Given the description of an element on the screen output the (x, y) to click on. 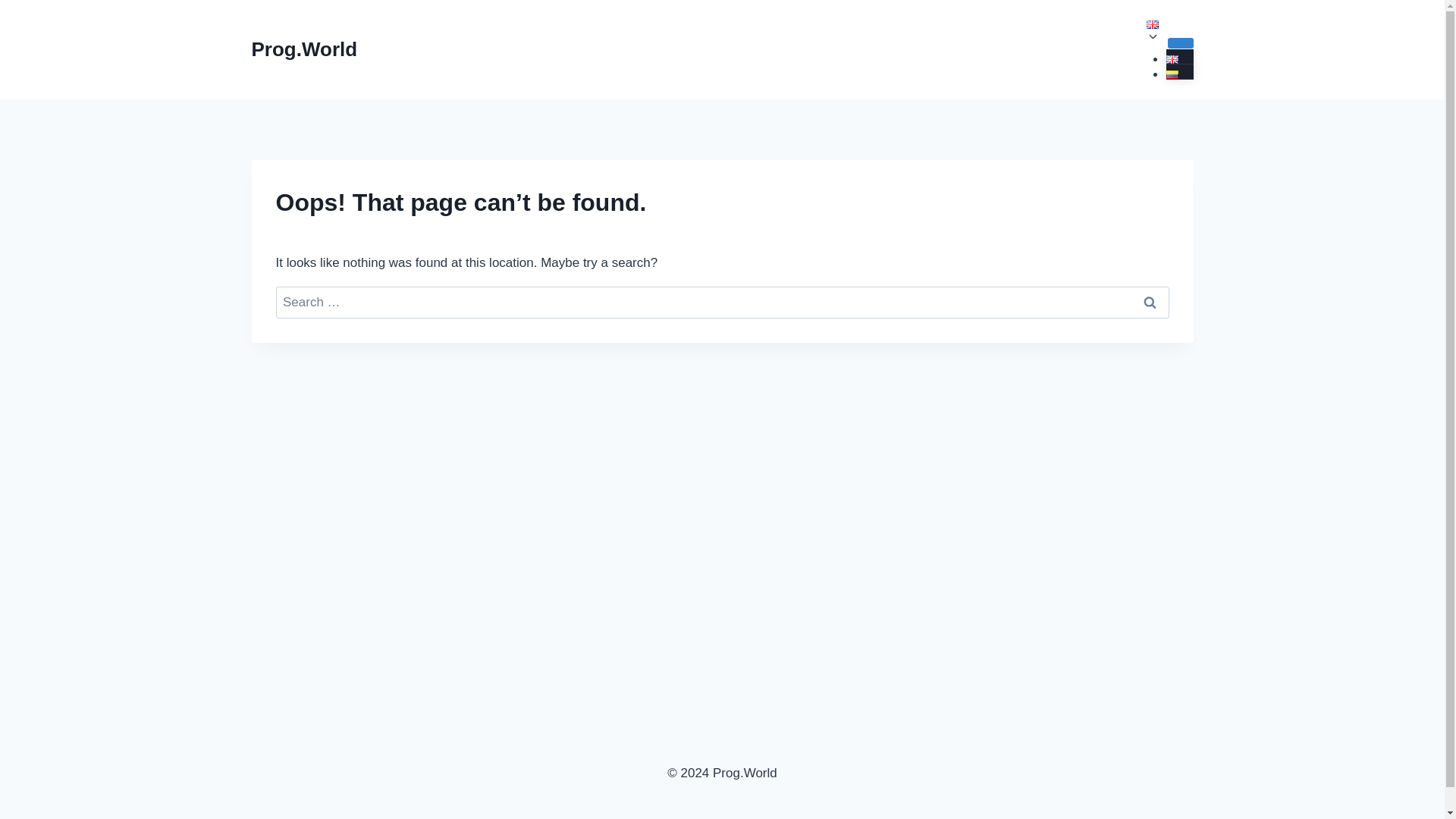
Search (1150, 302)
Search (1150, 302)
Search (1150, 302)
Prog.World (304, 49)
